Given the description of an element on the screen output the (x, y) to click on. 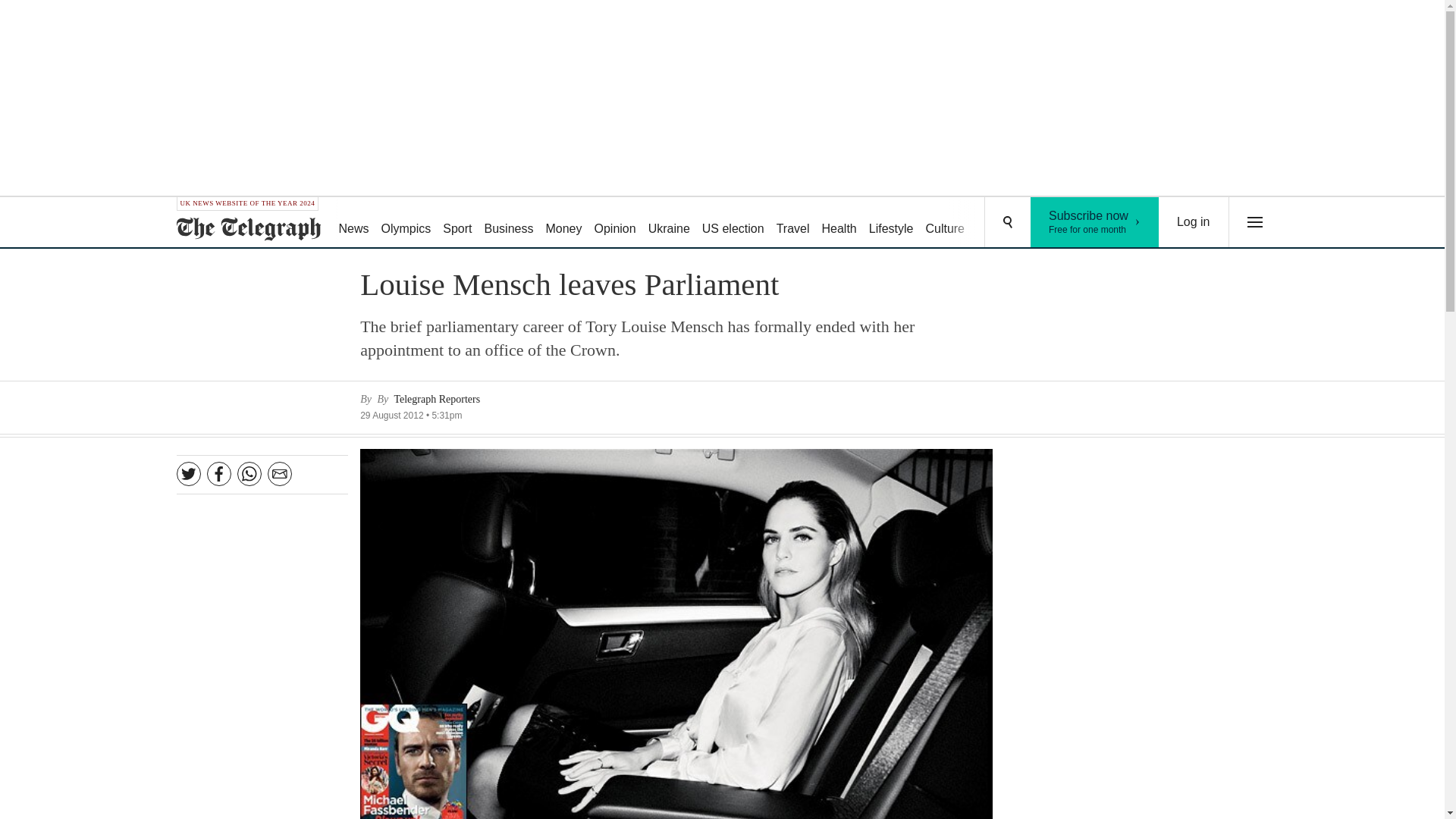
Opinion (615, 223)
Podcasts (1056, 223)
Ukraine (1094, 222)
Olympics (668, 223)
Travel (406, 223)
US election (792, 223)
Money (732, 223)
Health (563, 223)
Log in (838, 223)
Culture (1193, 222)
Business (944, 223)
Puzzles (509, 223)
Lifestyle (998, 223)
